Given the description of an element on the screen output the (x, y) to click on. 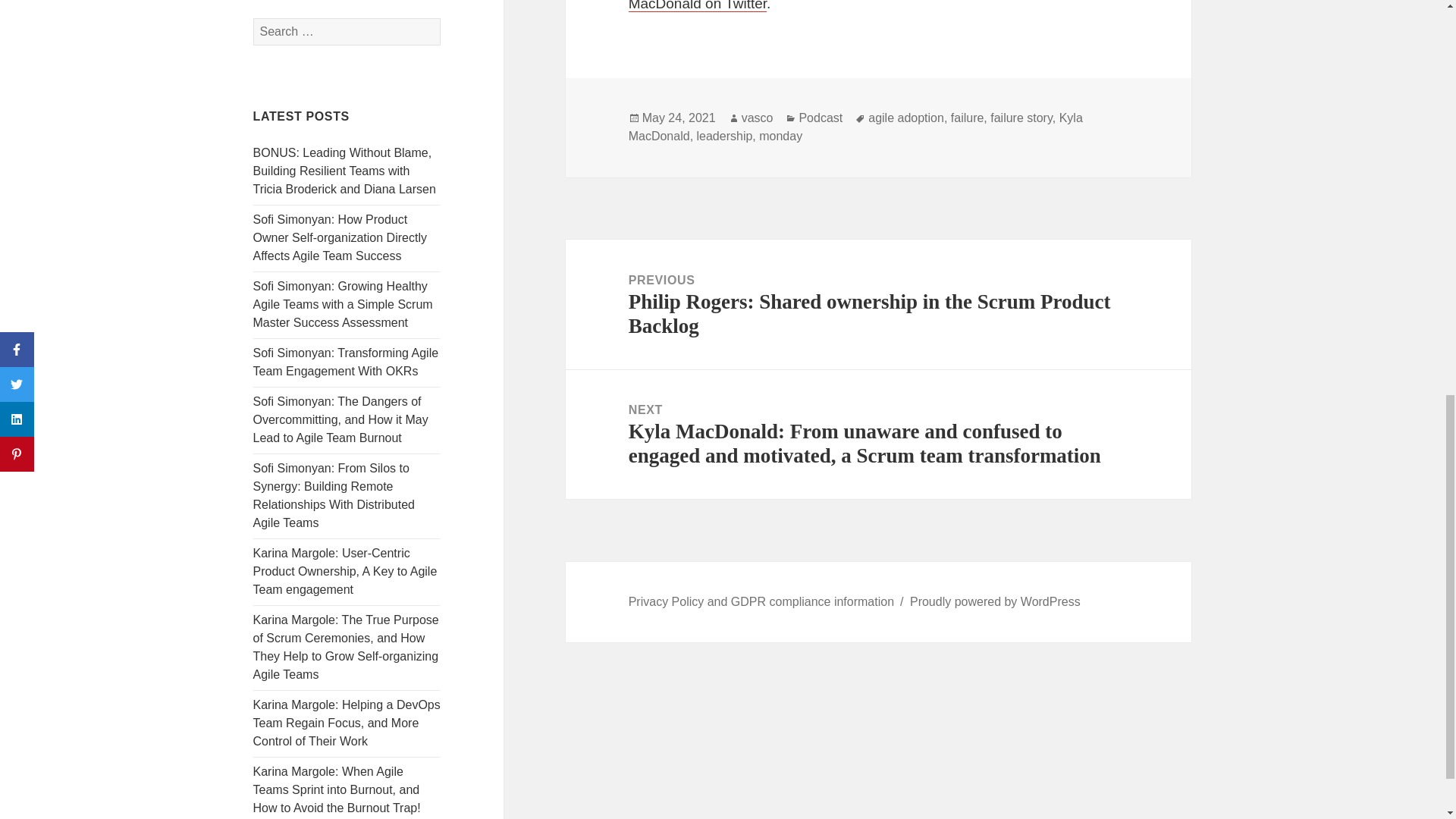
Kyla MacDonald on Twitter (847, 6)
Kyla MacDonald (855, 127)
leadership (724, 136)
